Given the description of an element on the screen output the (x, y) to click on. 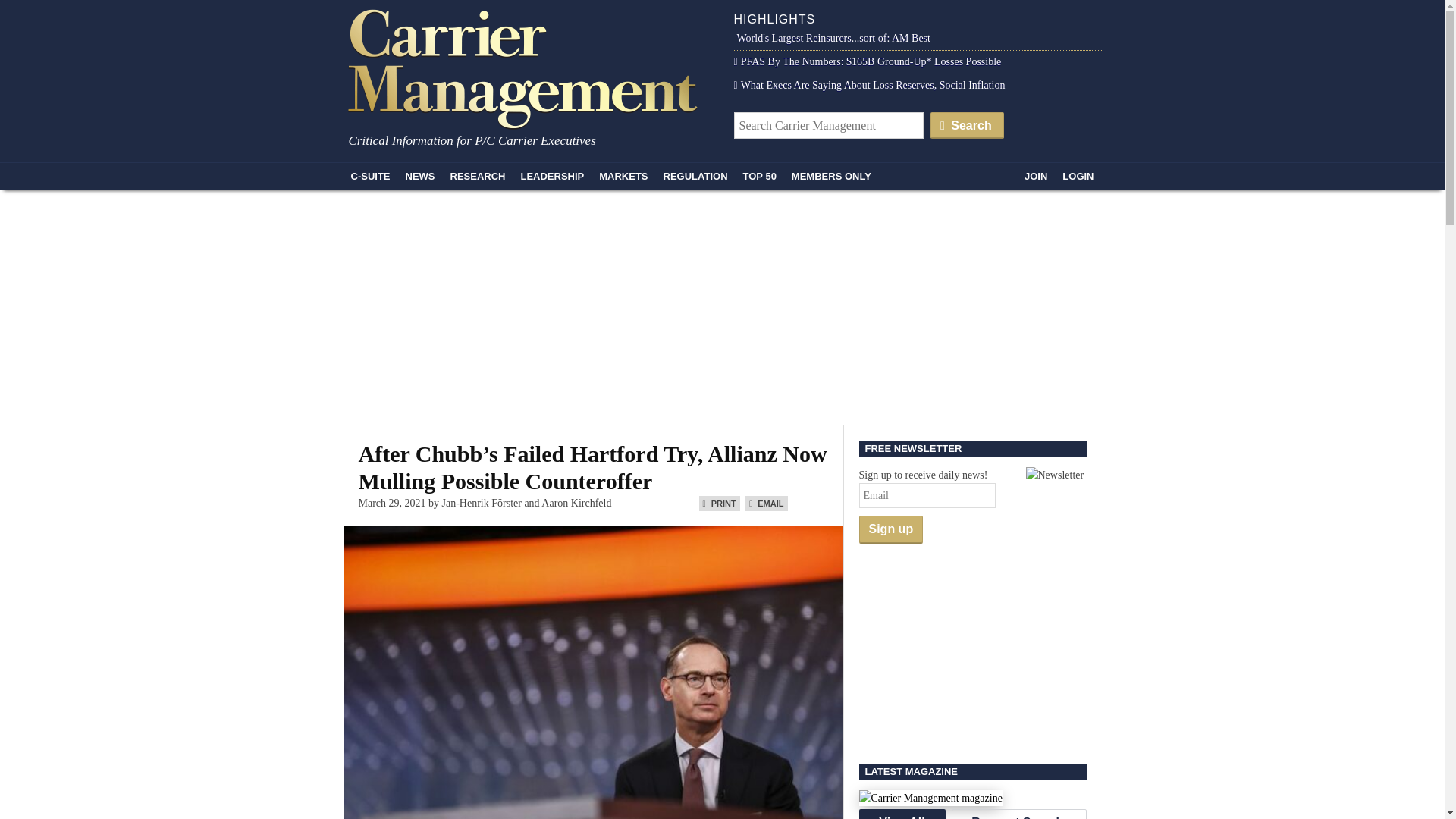
LOGIN (1077, 176)
LEADERSHIP (551, 176)
What Execs Are Saying About Loss Reserves, Social Inflation (869, 84)
MEMBERS ONLY (831, 176)
MARKETS (623, 176)
C-SUITE (369, 176)
JOIN (1035, 176)
World's Largest Reinsurers...sort of: AM Best (831, 38)
Carrier Management (527, 67)
TOP 50 (759, 176)
